Given the description of an element on the screen output the (x, y) to click on. 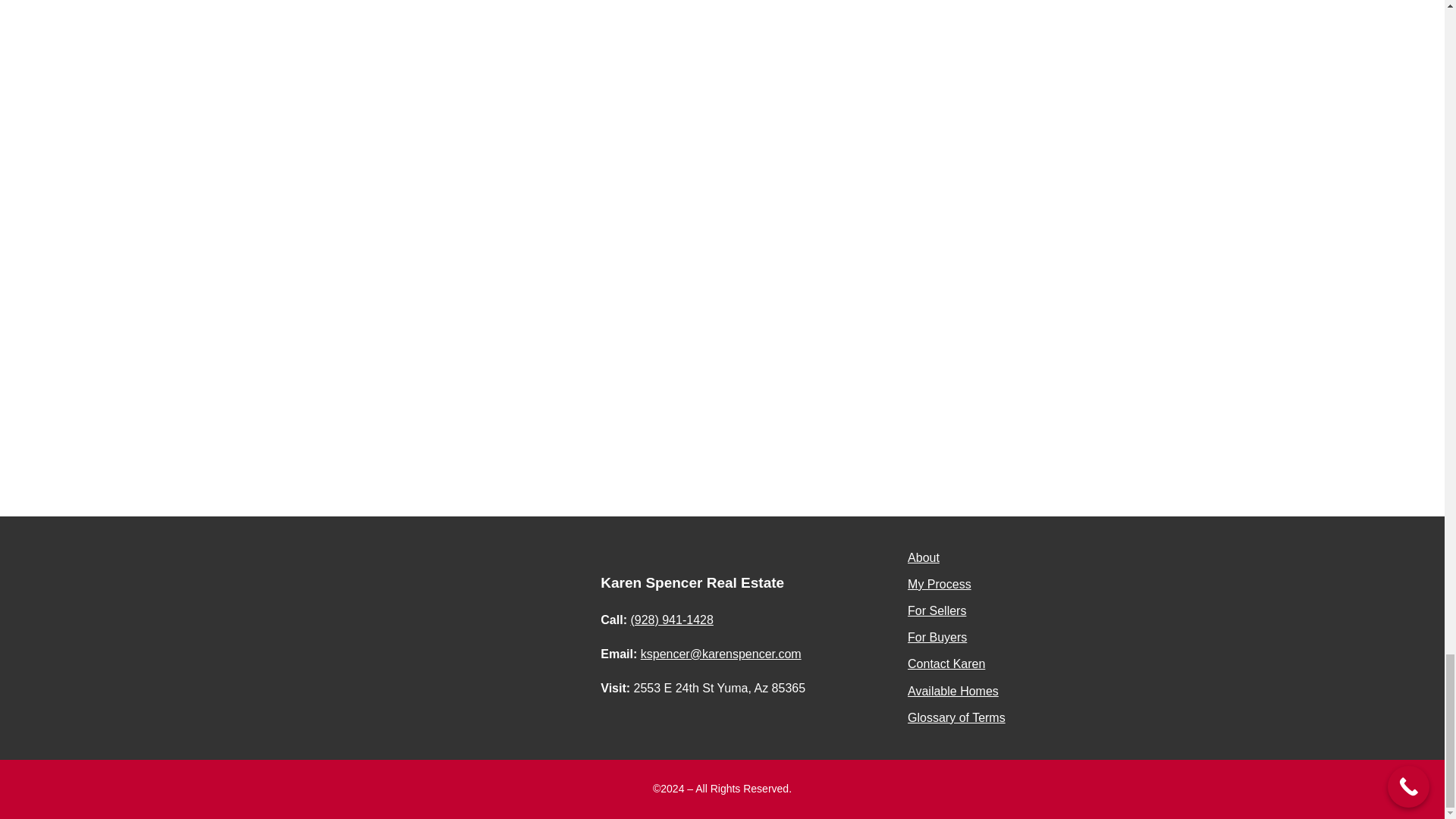
My Process (939, 584)
Contact Karen (946, 663)
About (923, 557)
For Buyers (936, 636)
For Sellers (936, 610)
